Given the description of an element on the screen output the (x, y) to click on. 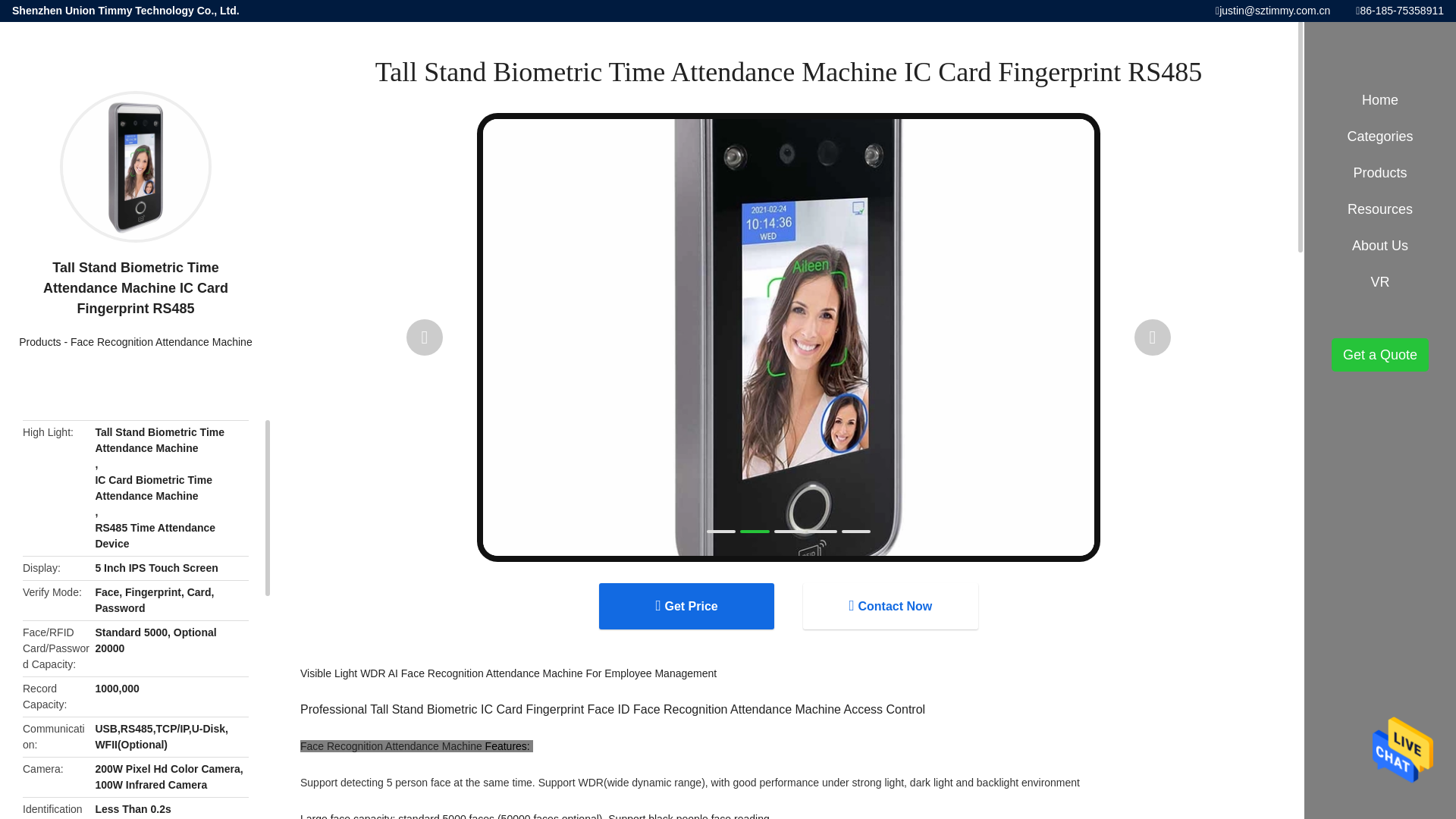
Contact Now (889, 606)
Face Recognition Attendance Machine (160, 341)
Get Price (685, 606)
Products (39, 341)
China Face Recognition Attendance Machine Manufacturers (160, 341)
Home (1379, 99)
Products (39, 341)
Categories (1379, 135)
